Given the description of an element on the screen output the (x, y) to click on. 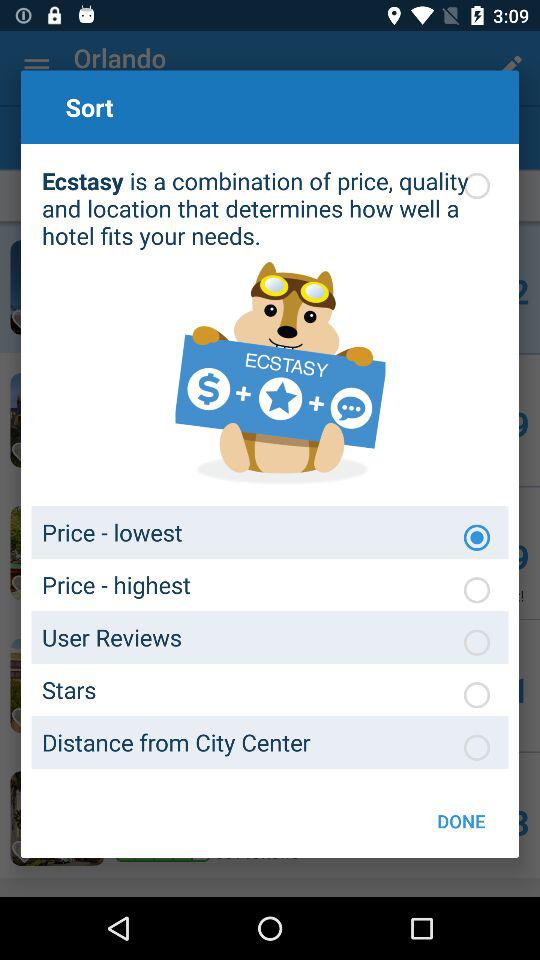
it shows a rating (477, 695)
